Given the description of an element on the screen output the (x, y) to click on. 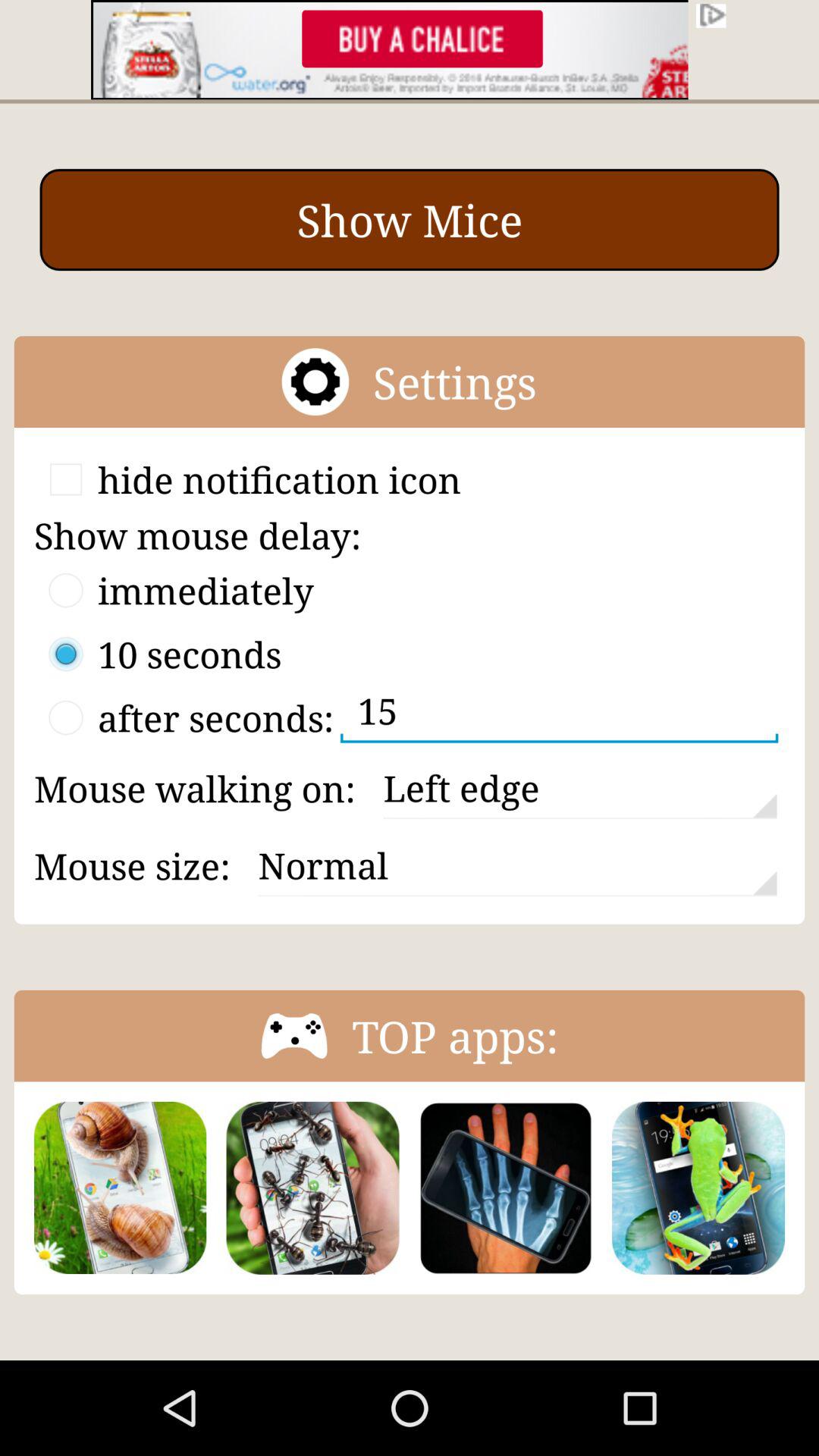
app image (505, 1187)
